Given the description of an element on the screen output the (x, y) to click on. 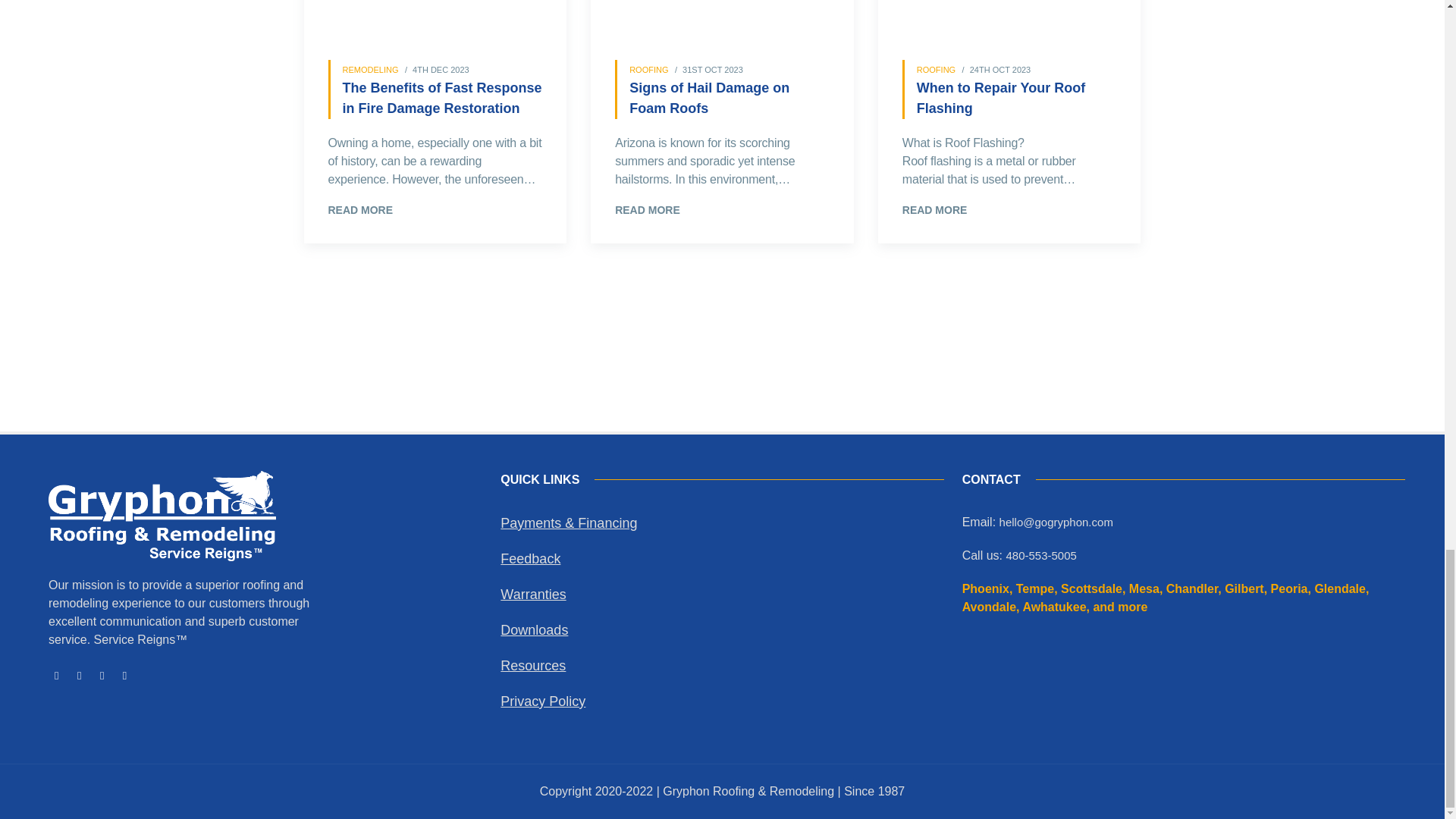
REMODELING (370, 69)
The Benefits of Fast Response in Fire Damage Restoration (442, 105)
READ MORE (360, 209)
